Given the description of an element on the screen output the (x, y) to click on. 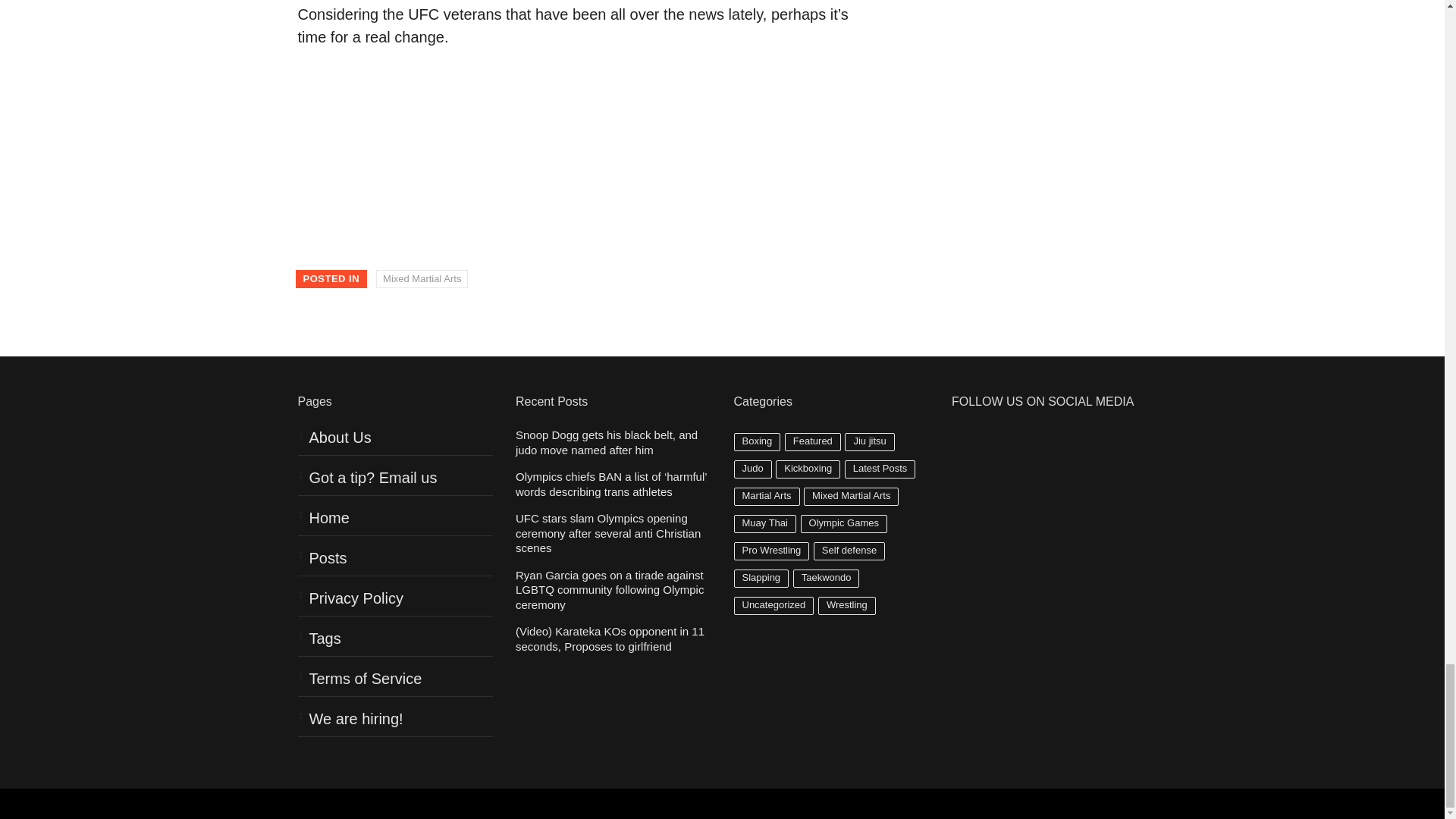
Mixed Martial Arts (421, 279)
